Given the description of an element on the screen output the (x, y) to click on. 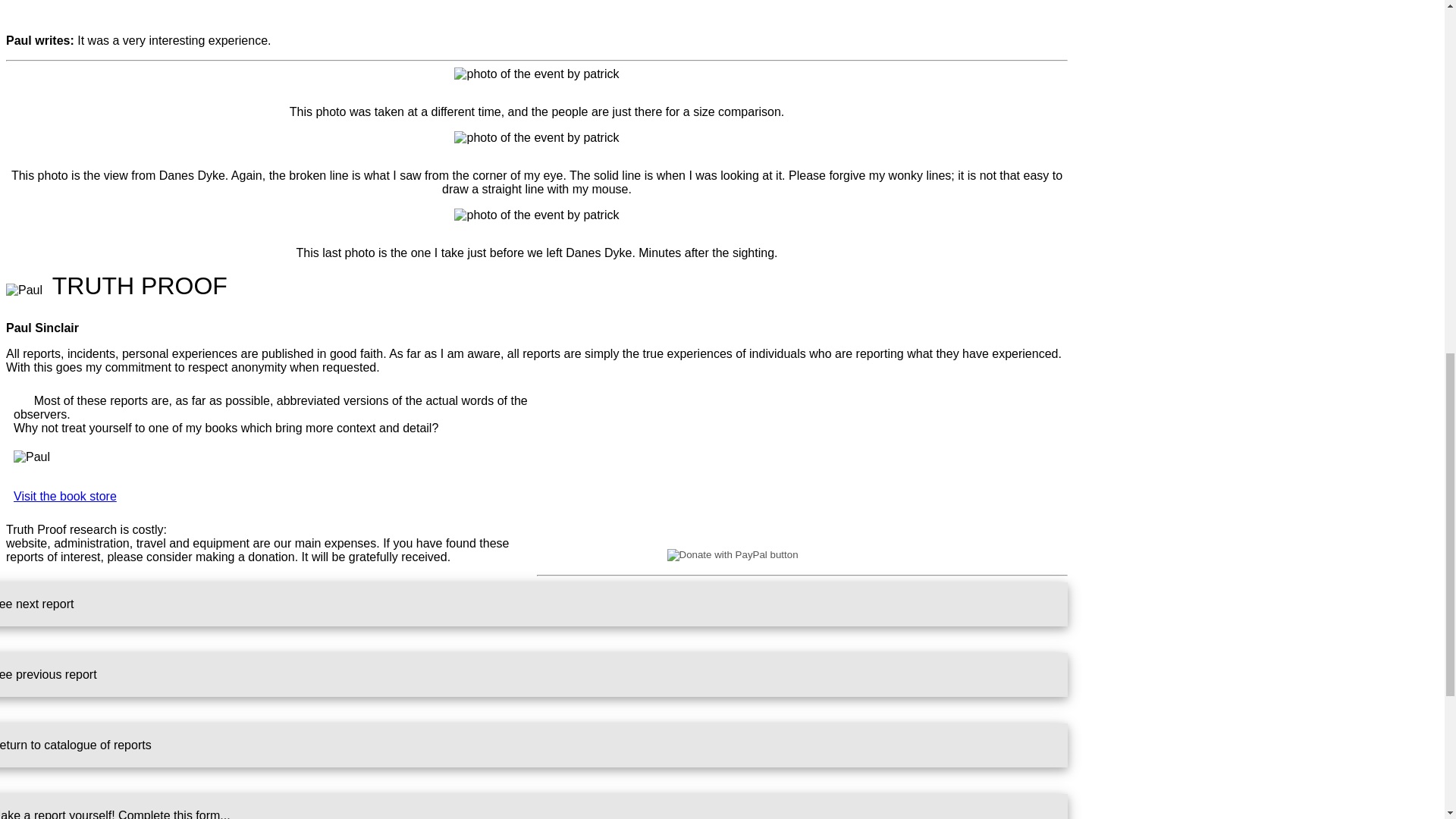
Visit the book store (64, 495)
See previous report (533, 674)
Return to catalogue of reports (533, 745)
PayPal - The safer, easier way to pay online! (801, 554)
See next report (533, 604)
Make a report yourself! Complete this form... (533, 806)
